Given the description of an element on the screen output the (x, y) to click on. 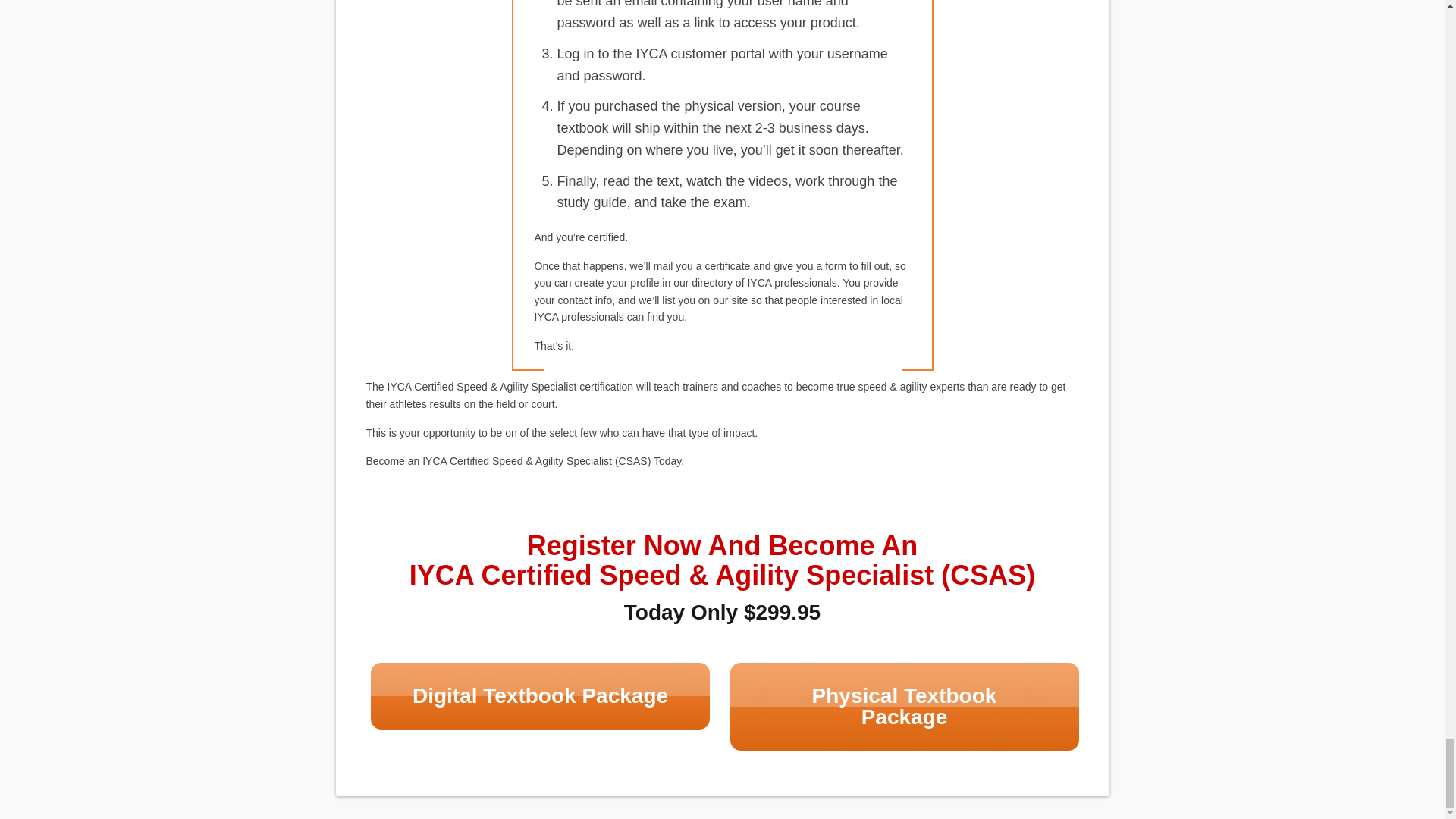
Digital Textbook Package (540, 695)
Physical Textbook Package (903, 706)
